Given the description of an element on the screen output the (x, y) to click on. 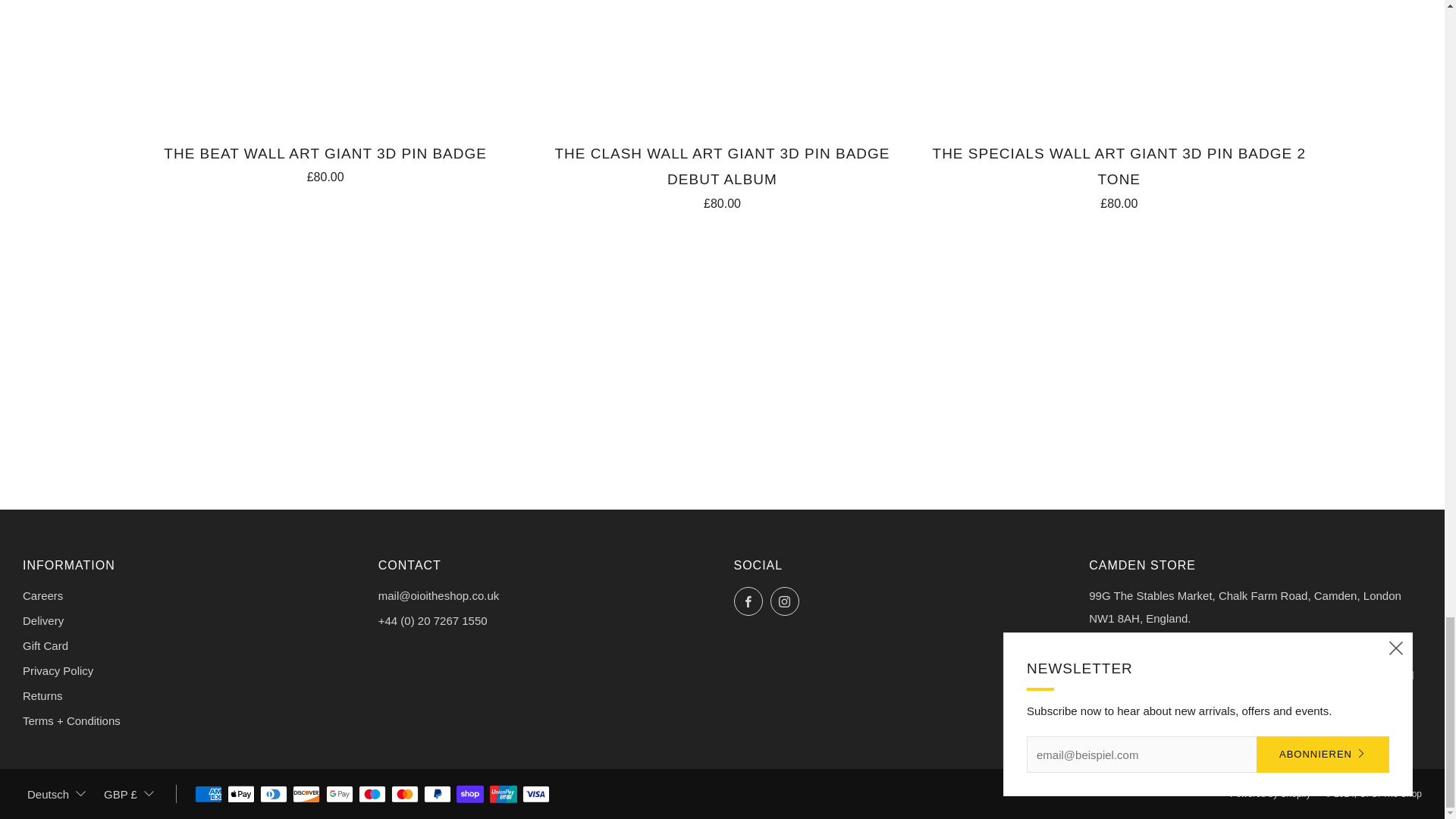
THE BEAT WALL ART GIANT 3D PIN BADGE (325, 161)
THE SPECIALS WALL ART GIANT 3D PIN BADGE 2 TONE (1118, 174)
THE CLASH WALL ART GIANT 3D PIN BADGE DEBUT ALBUM (721, 174)
